Given the description of an element on the screen output the (x, y) to click on. 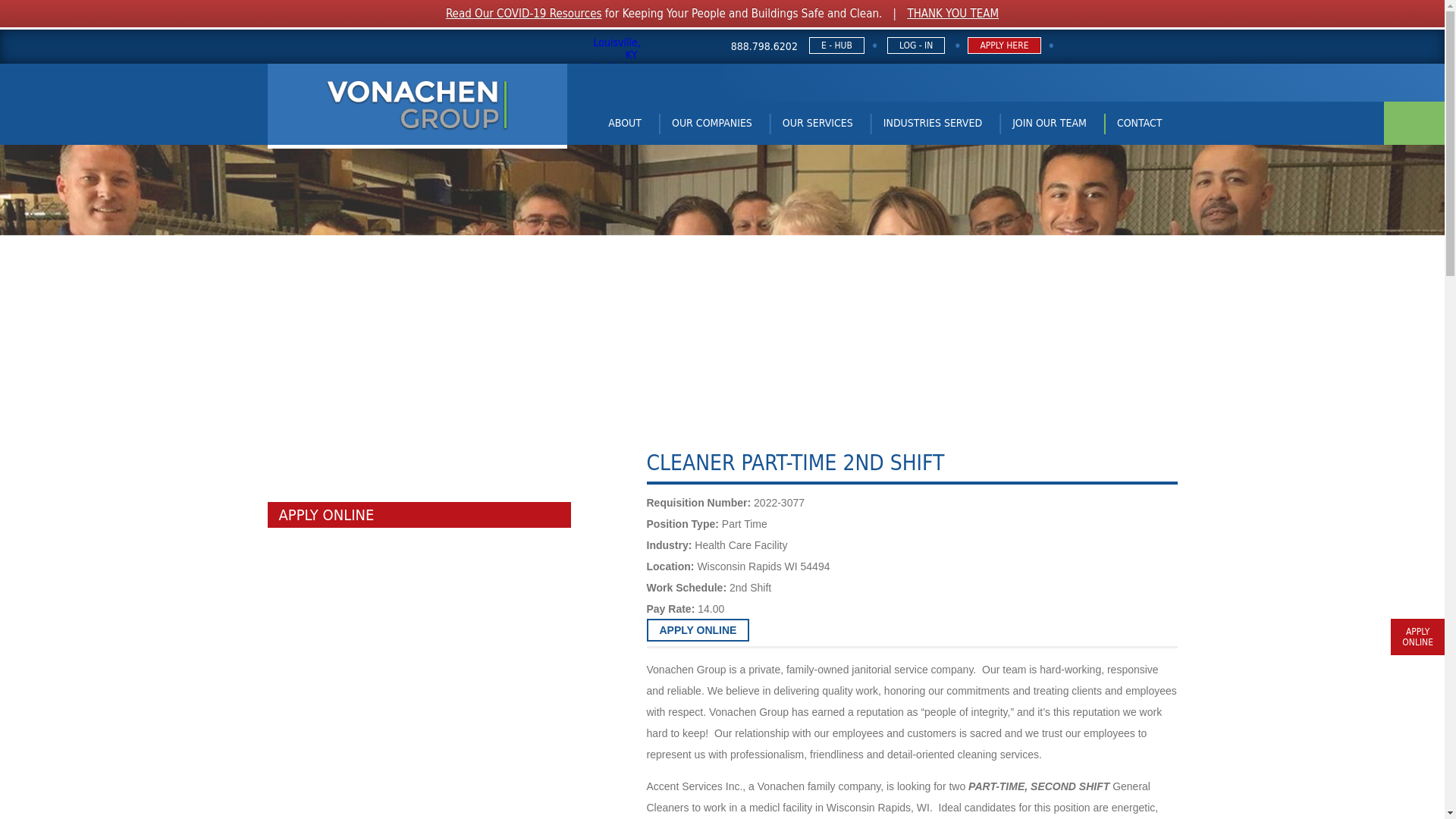
INDUSTRIES SERVED (932, 122)
OUR COMPANIES (711, 122)
ABOUT (624, 122)
OUR SERVICES (817, 122)
LOG - IN (915, 45)
APPLY HERE (1004, 45)
THANK YOU TEAM (952, 13)
Louisville, KY Lexington, KY (611, 47)
E - HUB (836, 45)
Read Our COVID-19 Resources (523, 13)
